Given the description of an element on the screen output the (x, y) to click on. 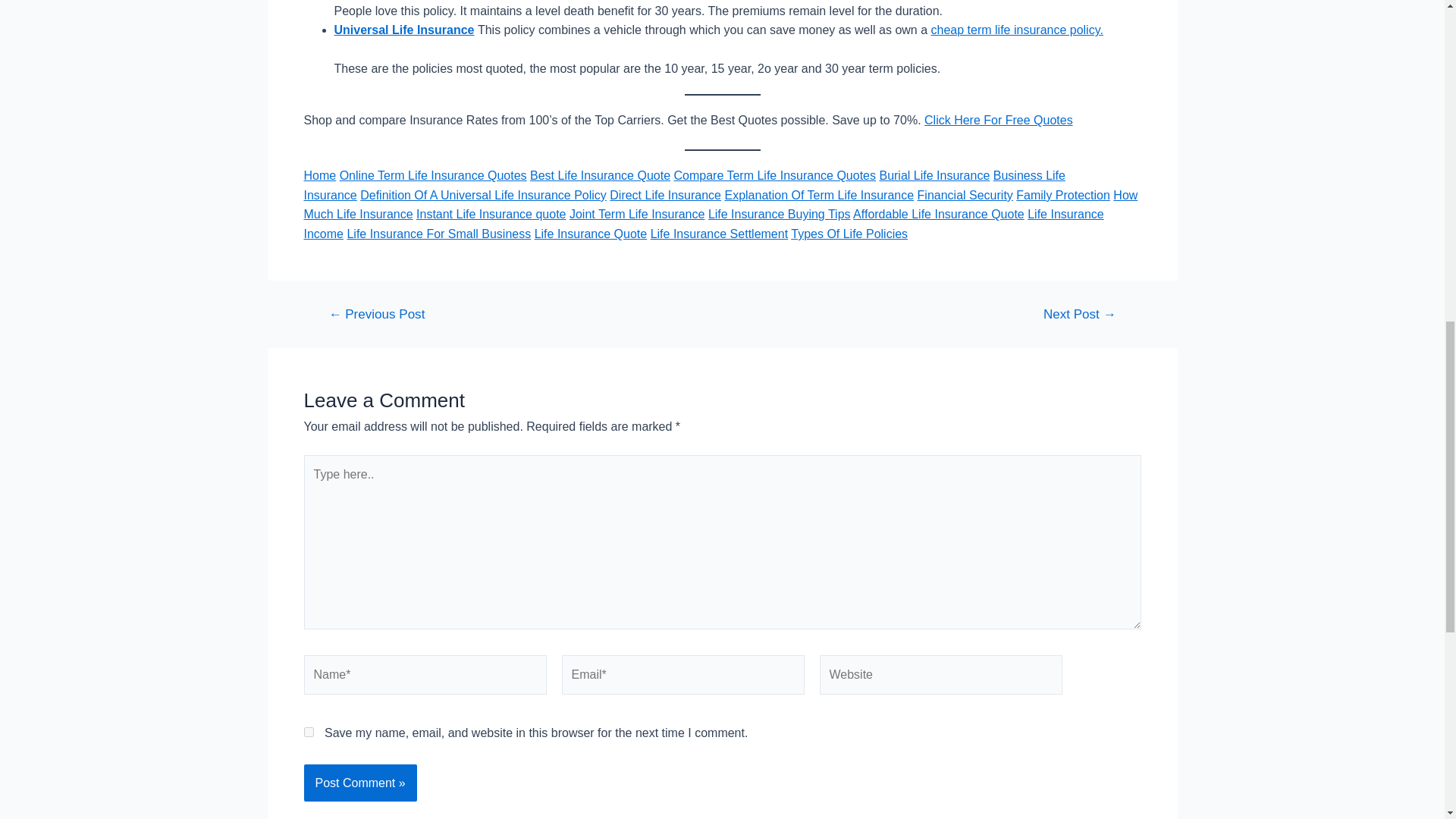
Family Financial Planning (1079, 314)
Compare Term Life Insurance Quotes (774, 174)
Direct Life Insurance (665, 195)
Financial Security (965, 195)
Family Protection (1062, 195)
Universal Life Insurance (403, 29)
How Much Life Insurance (719, 205)
Business Life Insurance (683, 184)
Explanation Of Term Life Insurance (818, 195)
Joint Term Life Insurance (636, 214)
